Given the description of an element on the screen output the (x, y) to click on. 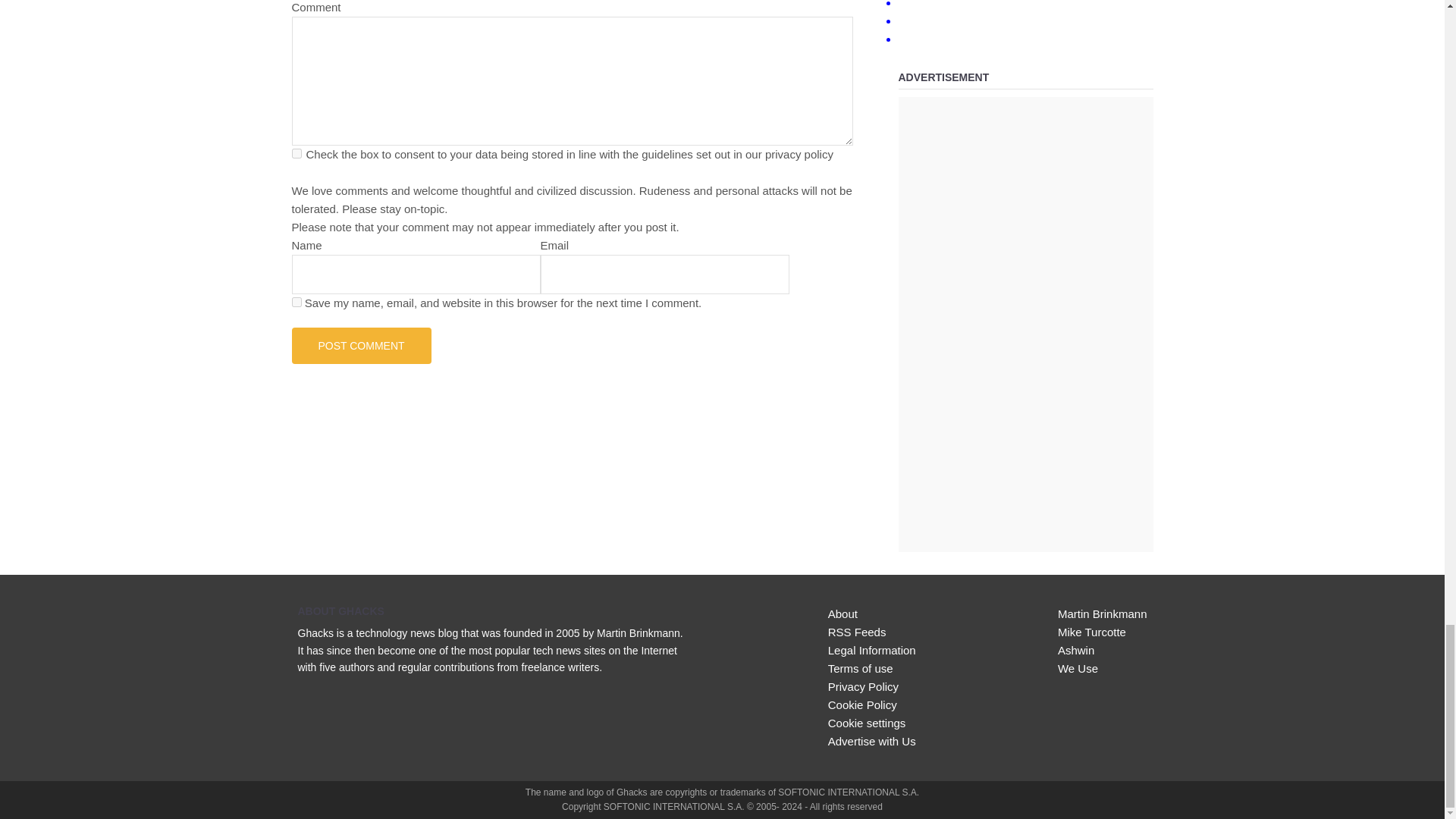
yes (296, 302)
privacy-key (296, 153)
Post Comment (360, 345)
